Given the description of an element on the screen output the (x, y) to click on. 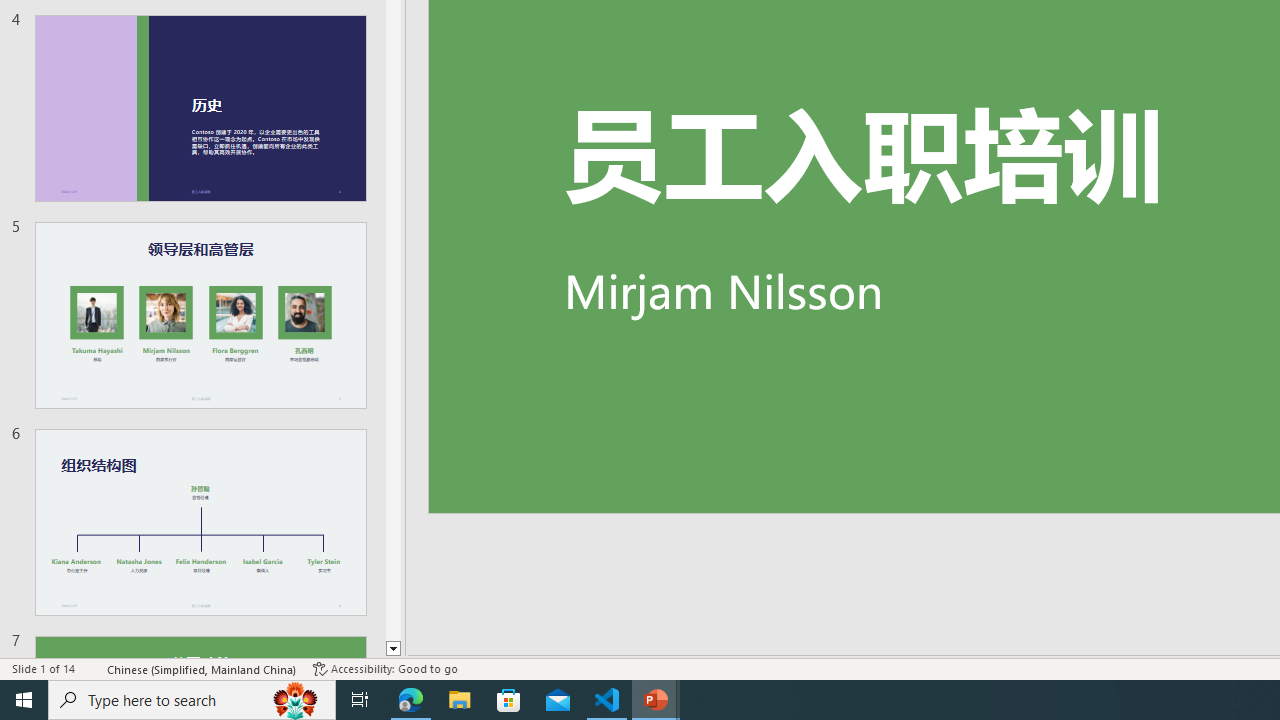
PowerPoint - 2 running windows (656, 699)
Spell Check  (92, 668)
